Given the description of an element on the screen output the (x, y) to click on. 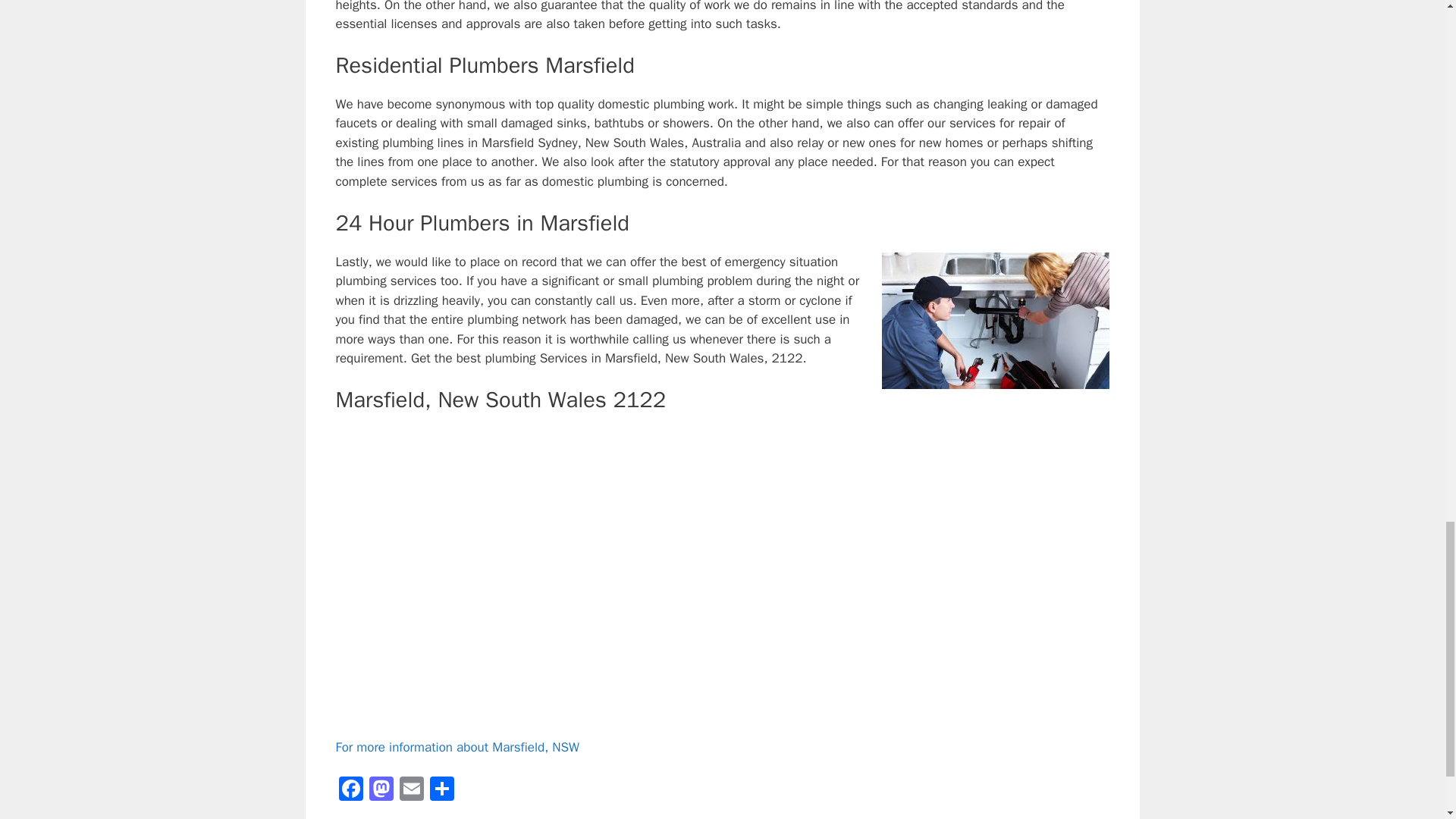
Facebook (349, 790)
Email (411, 790)
Mastodon (380, 790)
Facebook (349, 790)
Email (411, 790)
Mastodon (380, 790)
For more information about Marsfield, NSW (456, 747)
Share (441, 790)
